Given the description of an element on the screen output the (x, y) to click on. 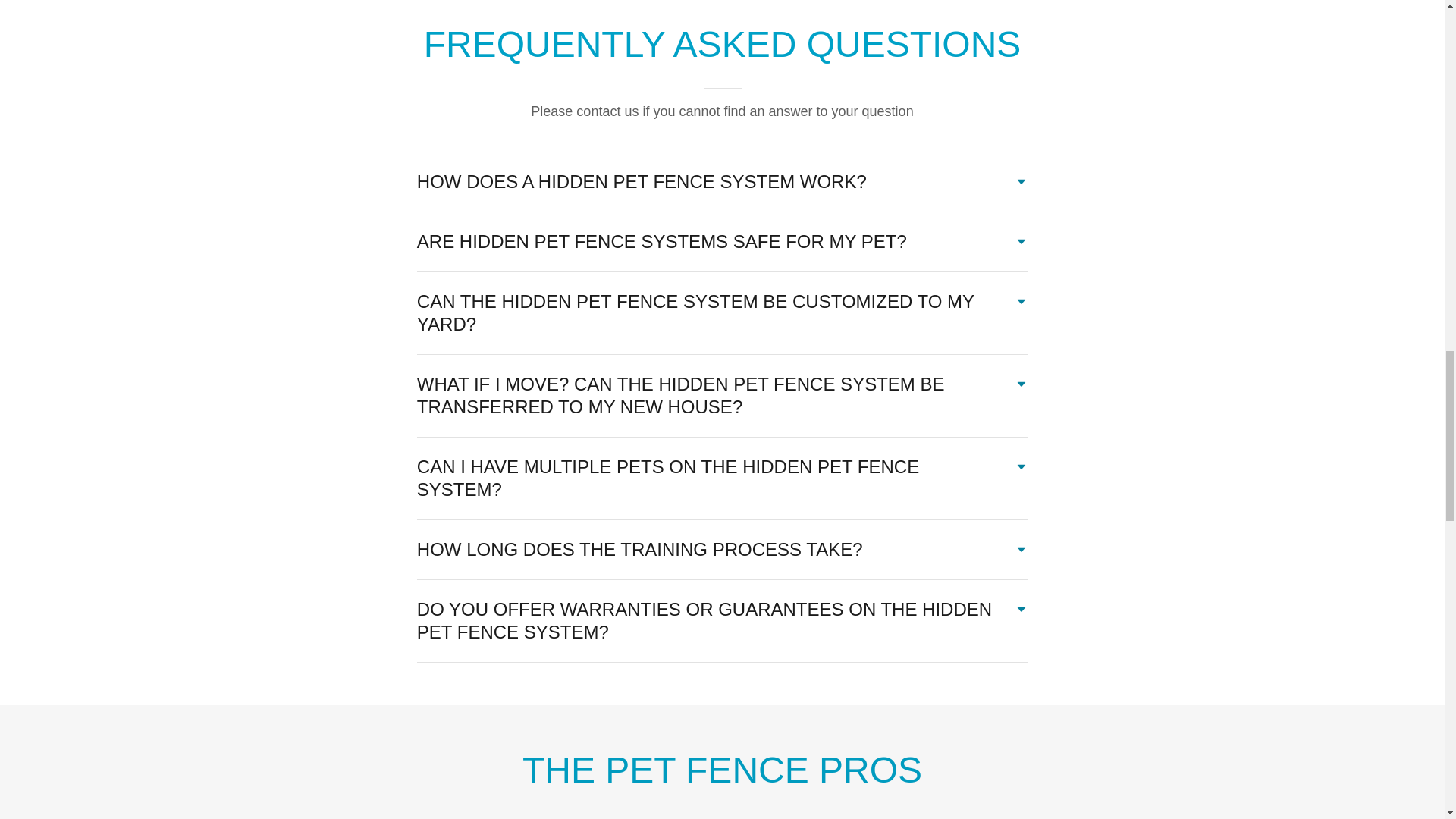
HOW LONG DOES THE TRAINING PROCESS TAKE? (721, 549)
CAN I HAVE MULTIPLE PETS ON THE HIDDEN PET FENCE SYSTEM? (721, 477)
ARE HIDDEN PET FENCE SYSTEMS SAFE FOR MY PET? (721, 241)
CAN THE HIDDEN PET FENCE SYSTEM BE CUSTOMIZED TO MY YARD? (721, 313)
HOW DOES A HIDDEN PET FENCE SYSTEM WORK? (721, 181)
